Given the description of an element on the screen output the (x, y) to click on. 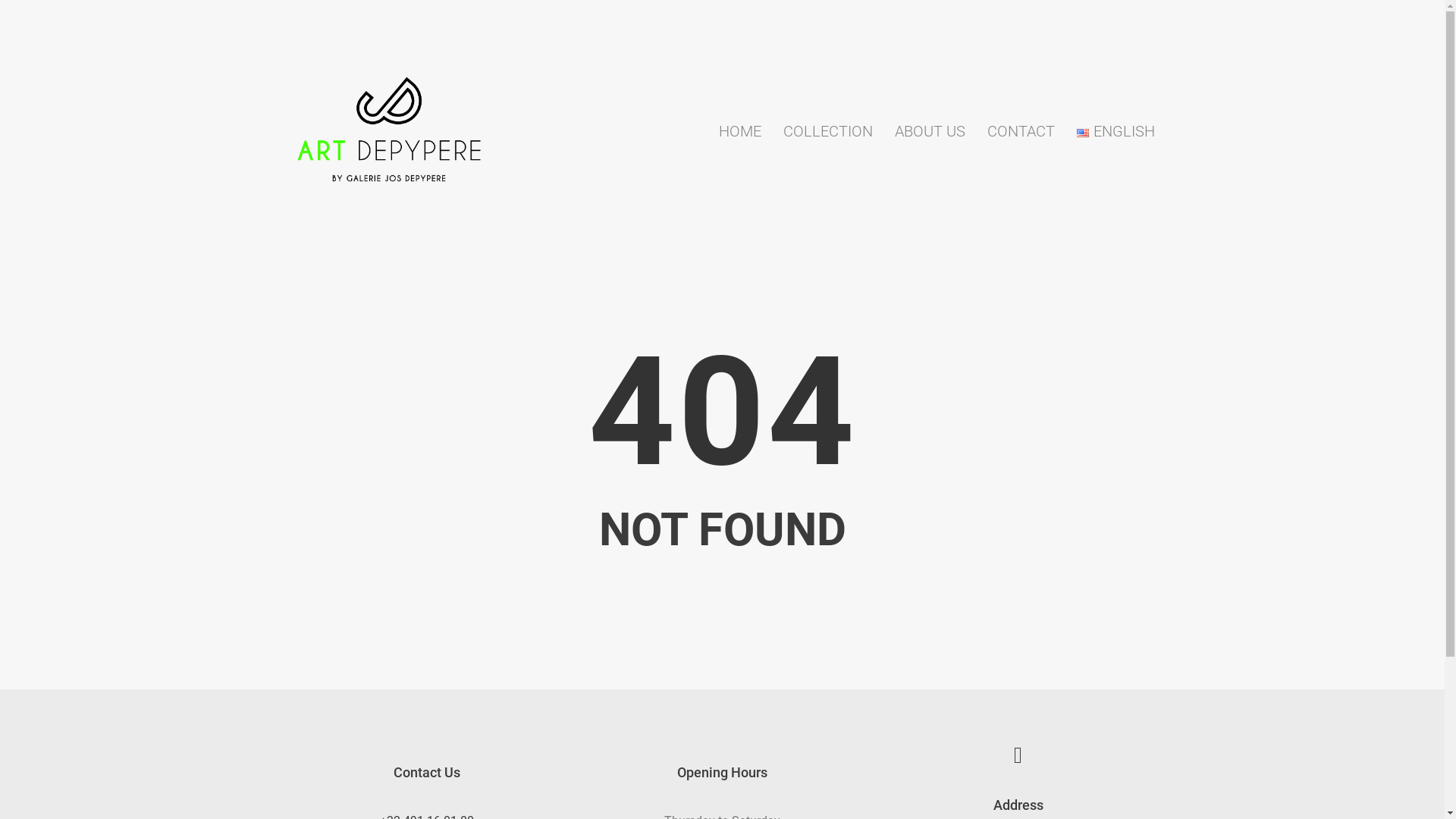
ABOUT US Element type: text (929, 131)
CONTACT Element type: text (1020, 131)
HOME Element type: text (739, 131)
ENGLISH Element type: text (1115, 131)
COLLECTION Element type: text (827, 131)
